Given the description of an element on the screen output the (x, y) to click on. 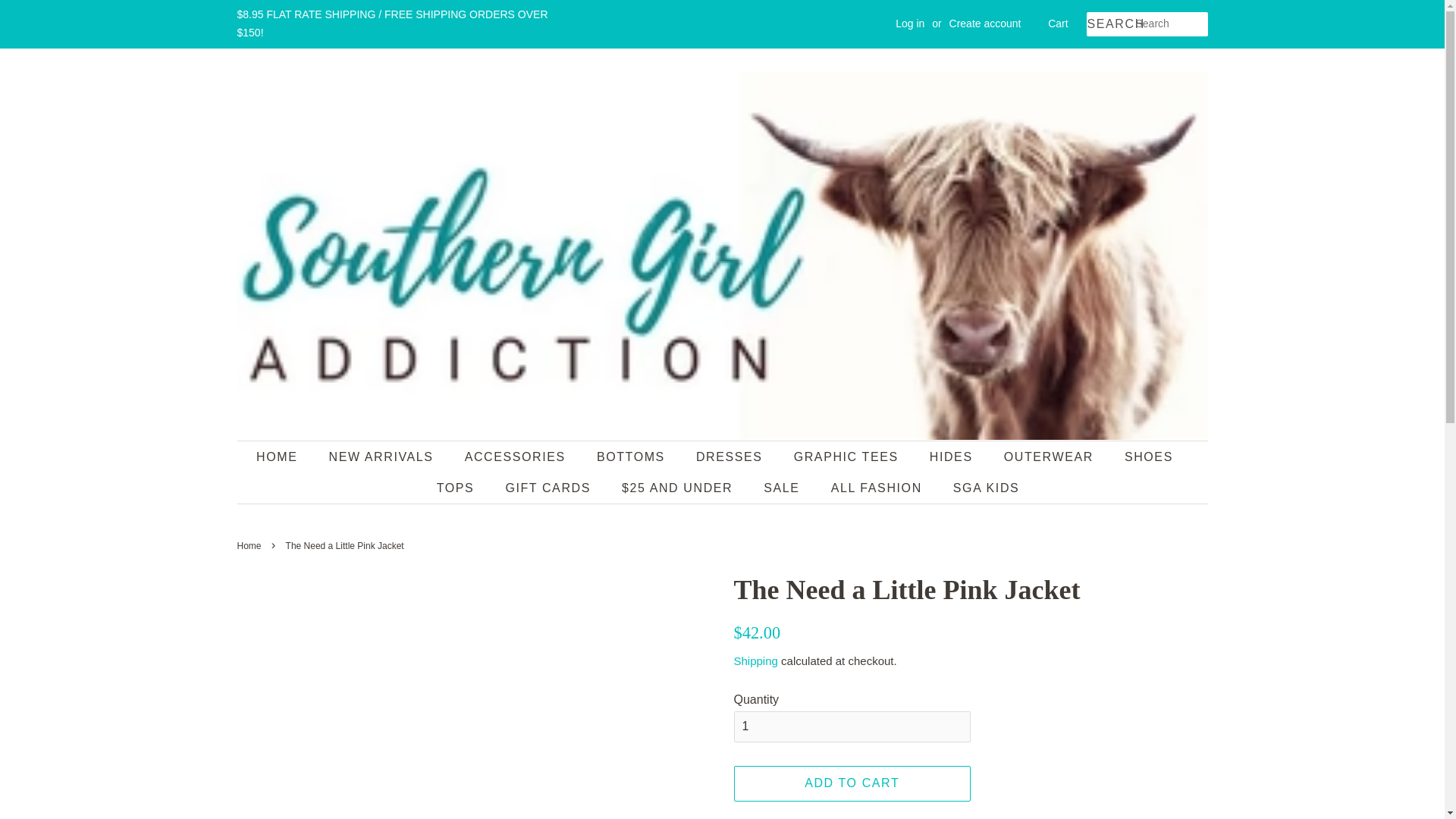
NEW ARRIVALS (382, 456)
Log in (909, 23)
Back to the frontpage (249, 545)
Cart (1057, 24)
BOTTOMS (632, 456)
SEARCH (1110, 24)
DRESSES (730, 456)
1 (852, 726)
ACCESSORIES (516, 456)
Create account (985, 23)
